Given the description of an element on the screen output the (x, y) to click on. 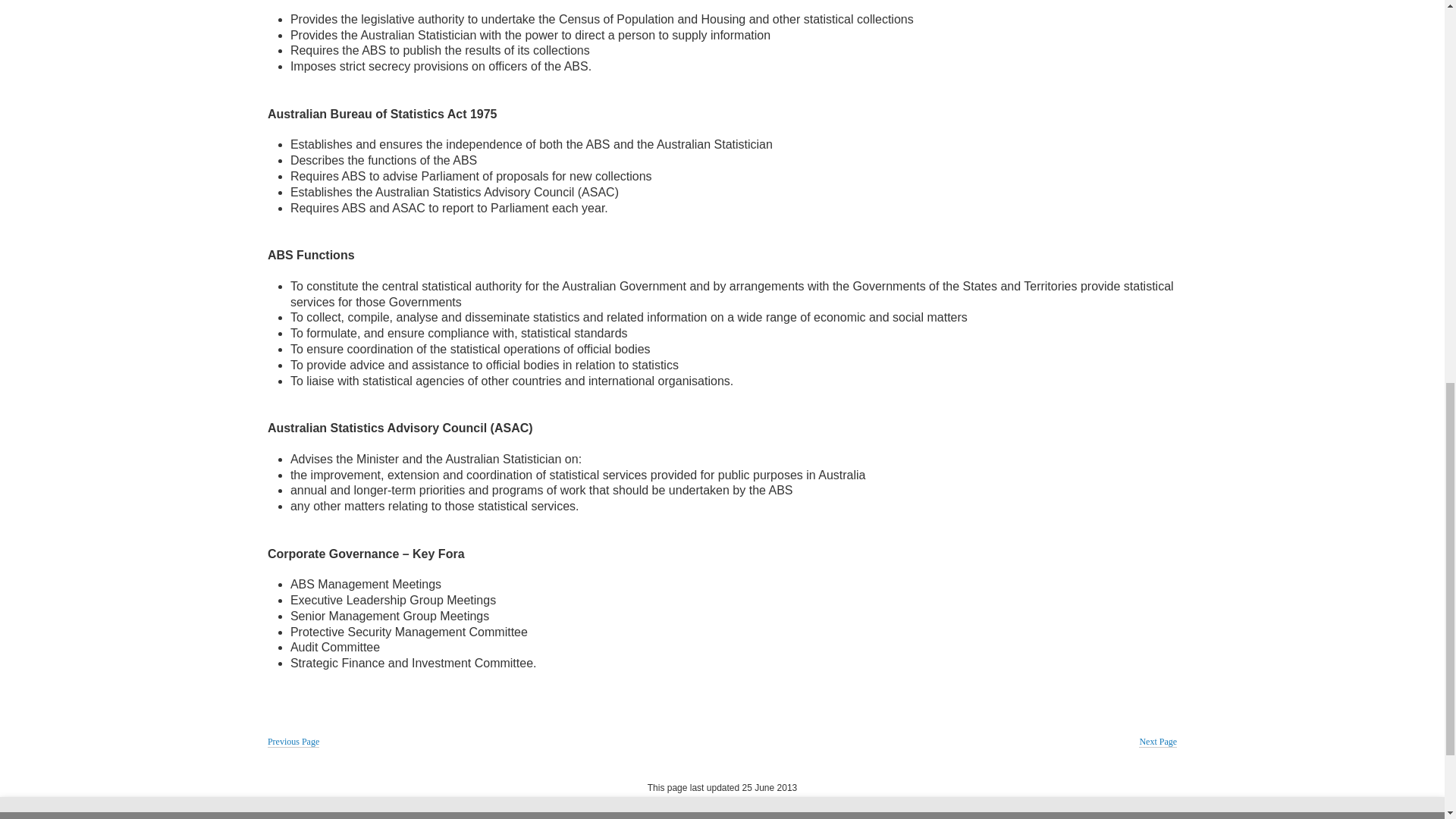
Next Page (1157, 741)
Previous Page (292, 741)
